Given the description of an element on the screen output the (x, y) to click on. 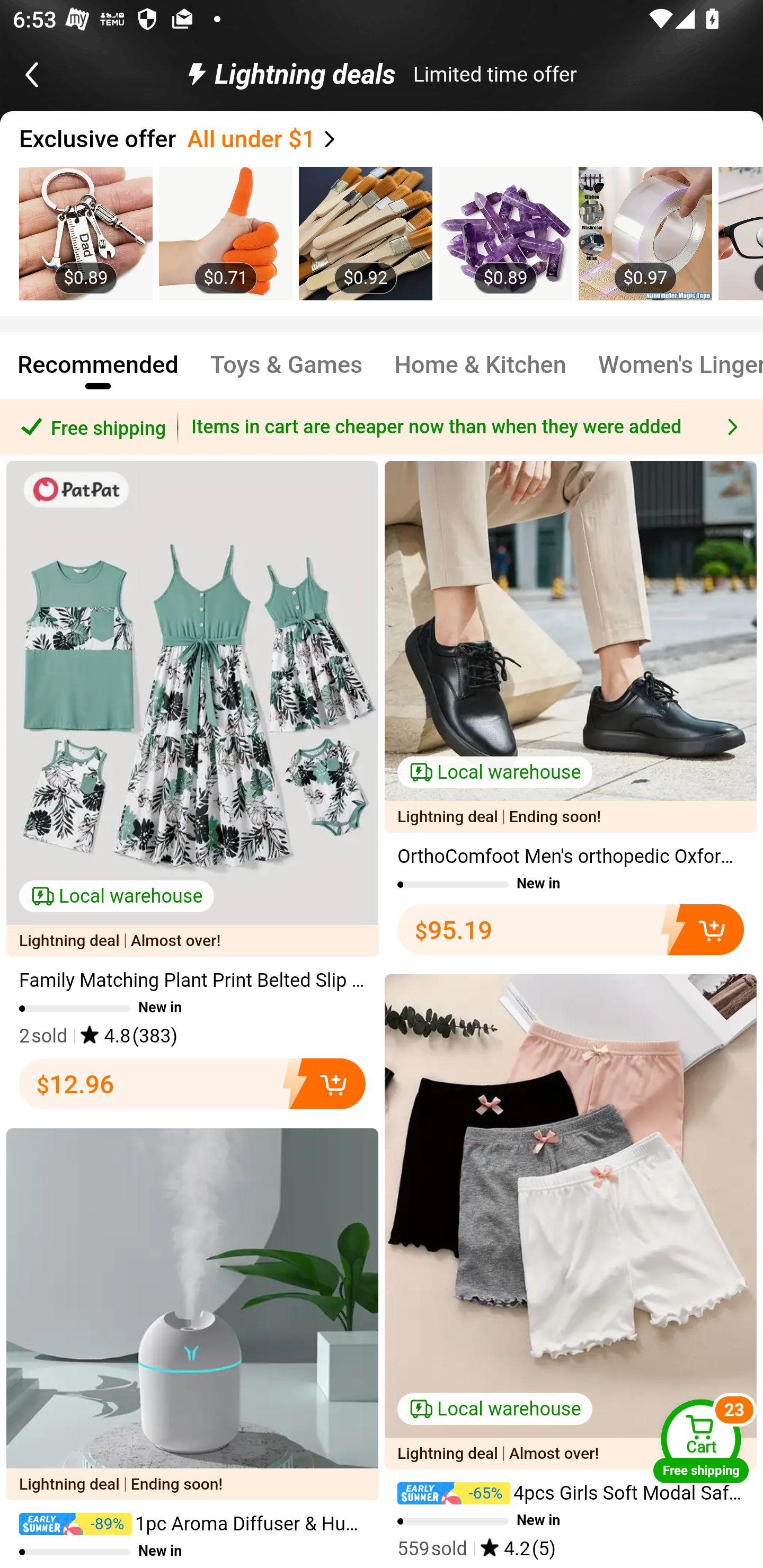
Cart Free shipping Cart (701, 1440)
